Given the description of an element on the screen output the (x, y) to click on. 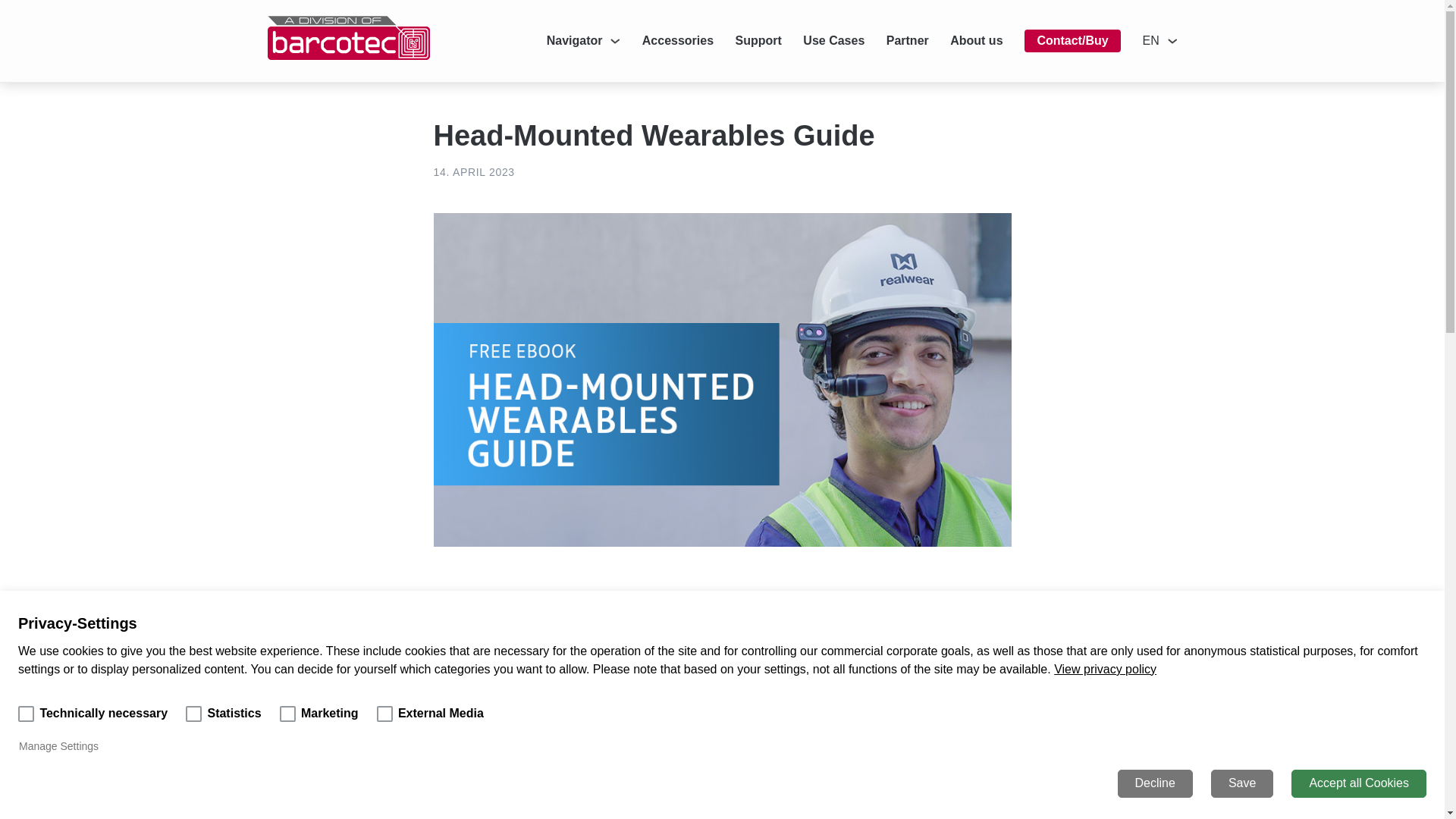
technically-necessary (25, 713)
Navigator (584, 40)
Support (758, 40)
statistics-en (194, 713)
marketing-en (287, 713)
About us (976, 40)
Accessories (677, 40)
external-media-en (385, 713)
RealWear (347, 55)
Use Cases (833, 40)
